Given the description of an element on the screen output the (x, y) to click on. 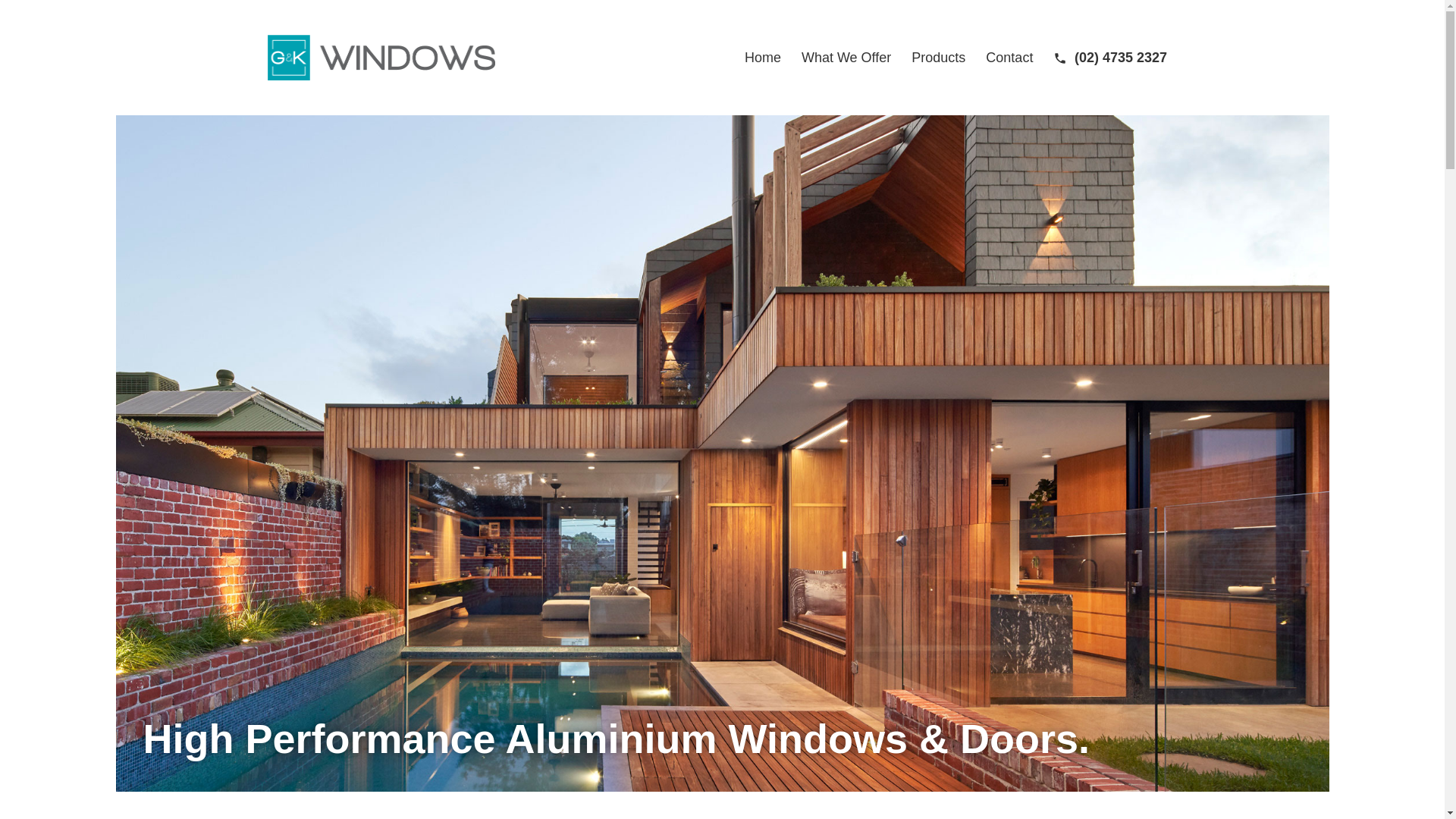
(02) 4735 2327 Element type: text (1110, 57)
What We Offer Element type: text (845, 57)
Home Element type: text (762, 57)
Contact Element type: text (1009, 57)
Products Element type: text (938, 57)
